Given the description of an element on the screen output the (x, y) to click on. 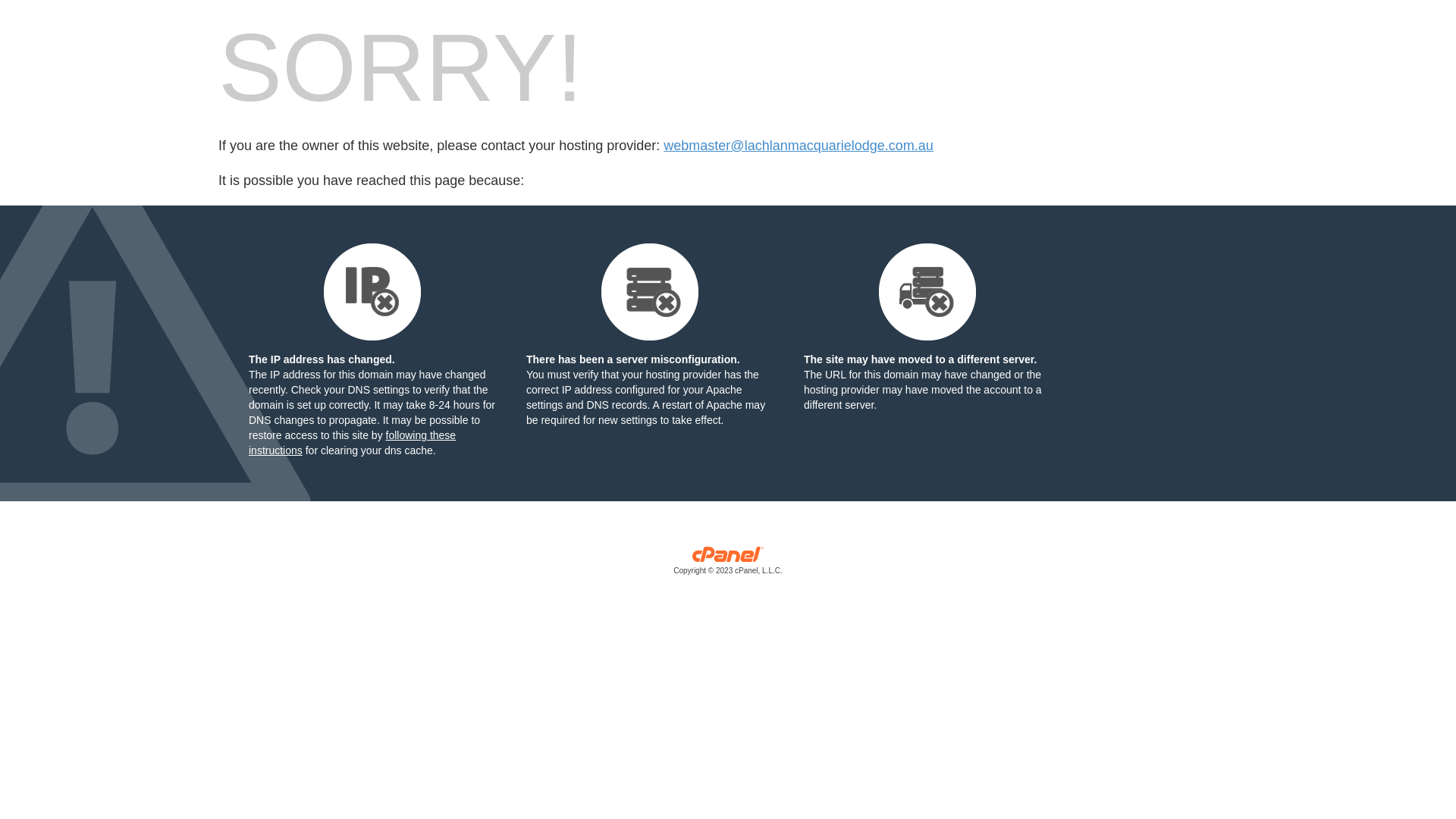
webmaster@lachlanmacquarielodge.com.au Element type: text (797, 145)
following these instructions Element type: text (351, 442)
